Given the description of an element on the screen output the (x, y) to click on. 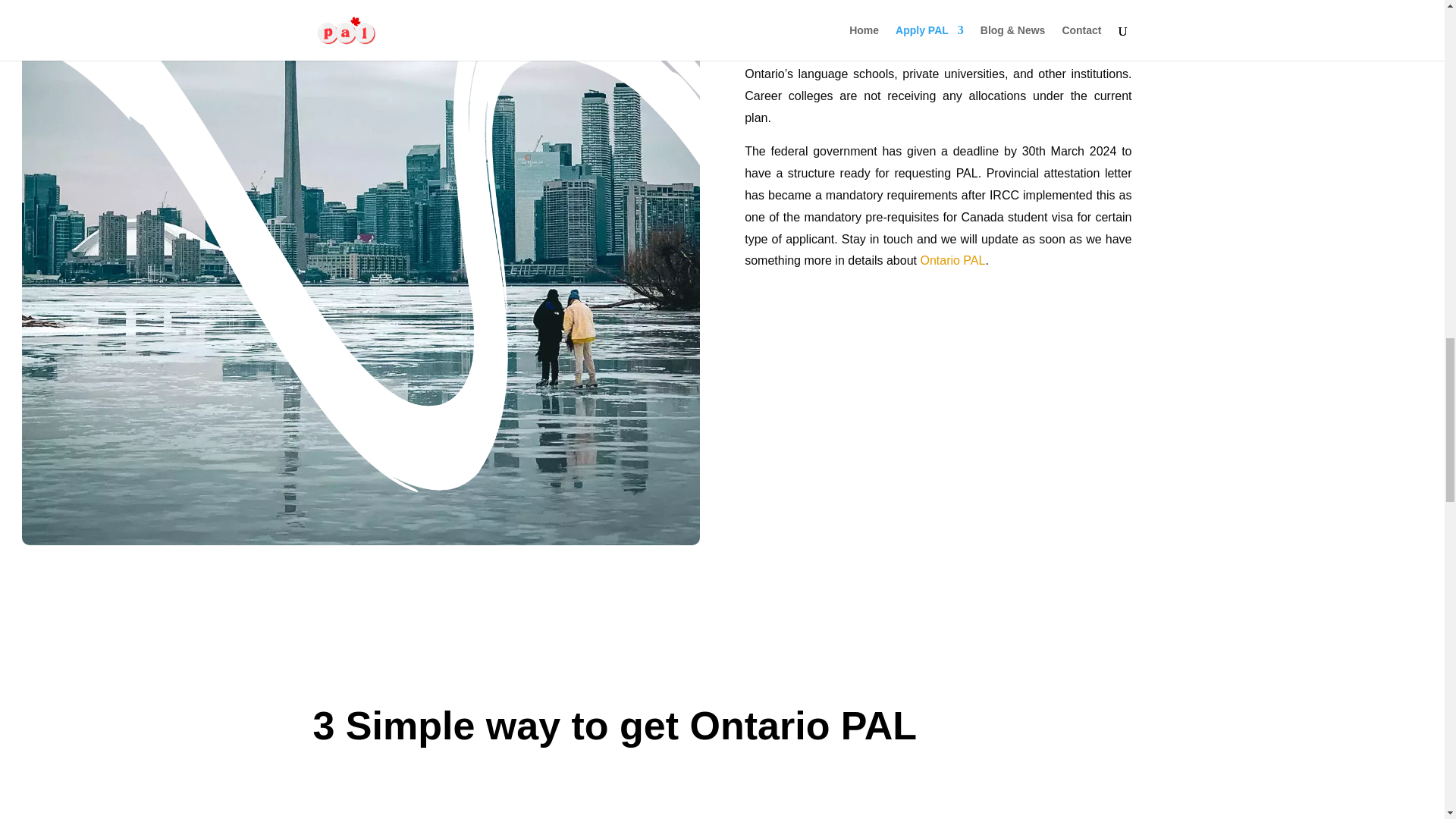
Ontario PAL (952, 259)
